Given the description of an element on the screen output the (x, y) to click on. 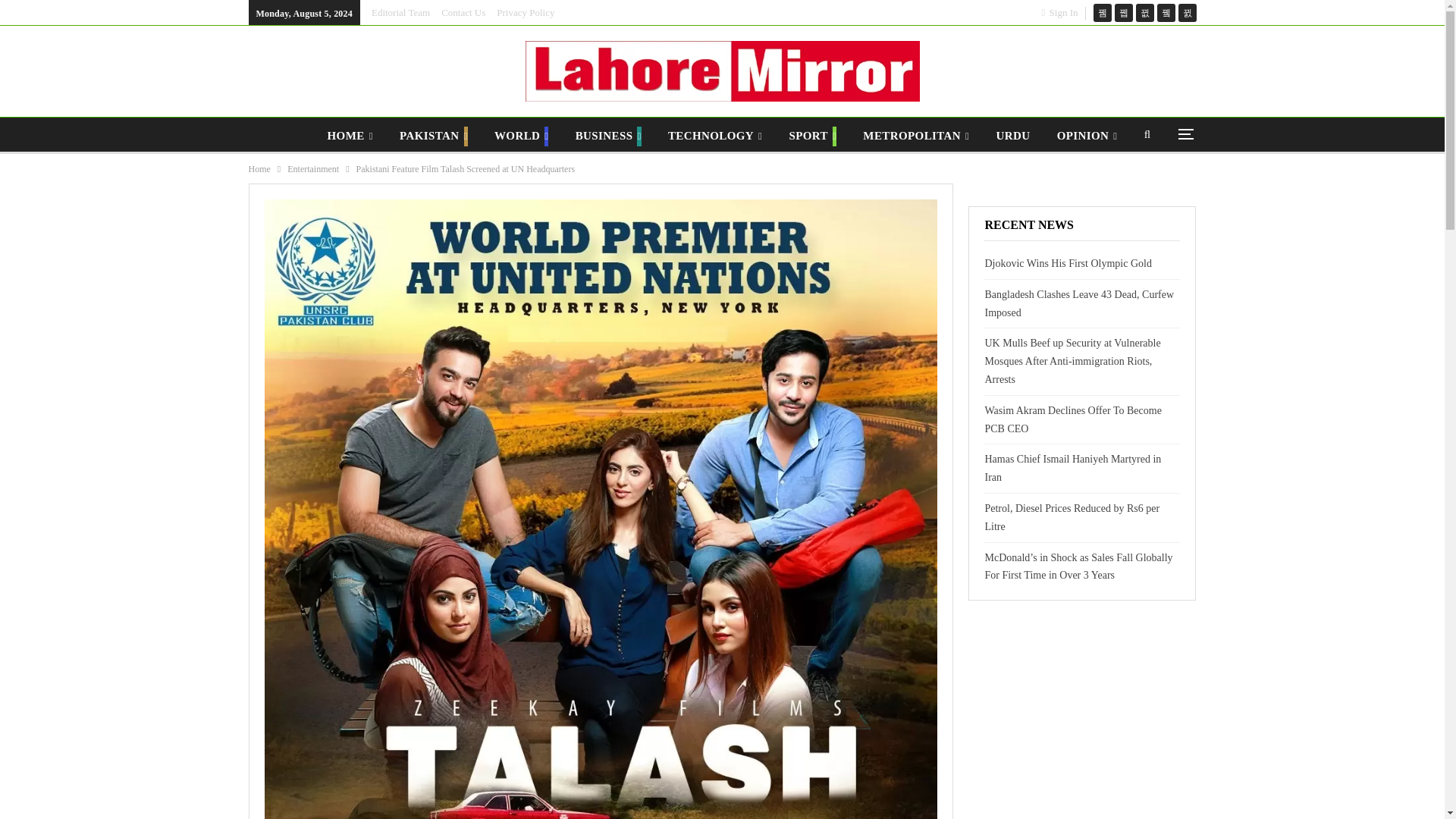
Editorial Team (400, 12)
PAKISTAN (433, 135)
Contact Us (462, 12)
WORLD (520, 135)
Privacy Policy (525, 12)
HOME (349, 135)
Sign In (1063, 12)
